Given the description of an element on the screen output the (x, y) to click on. 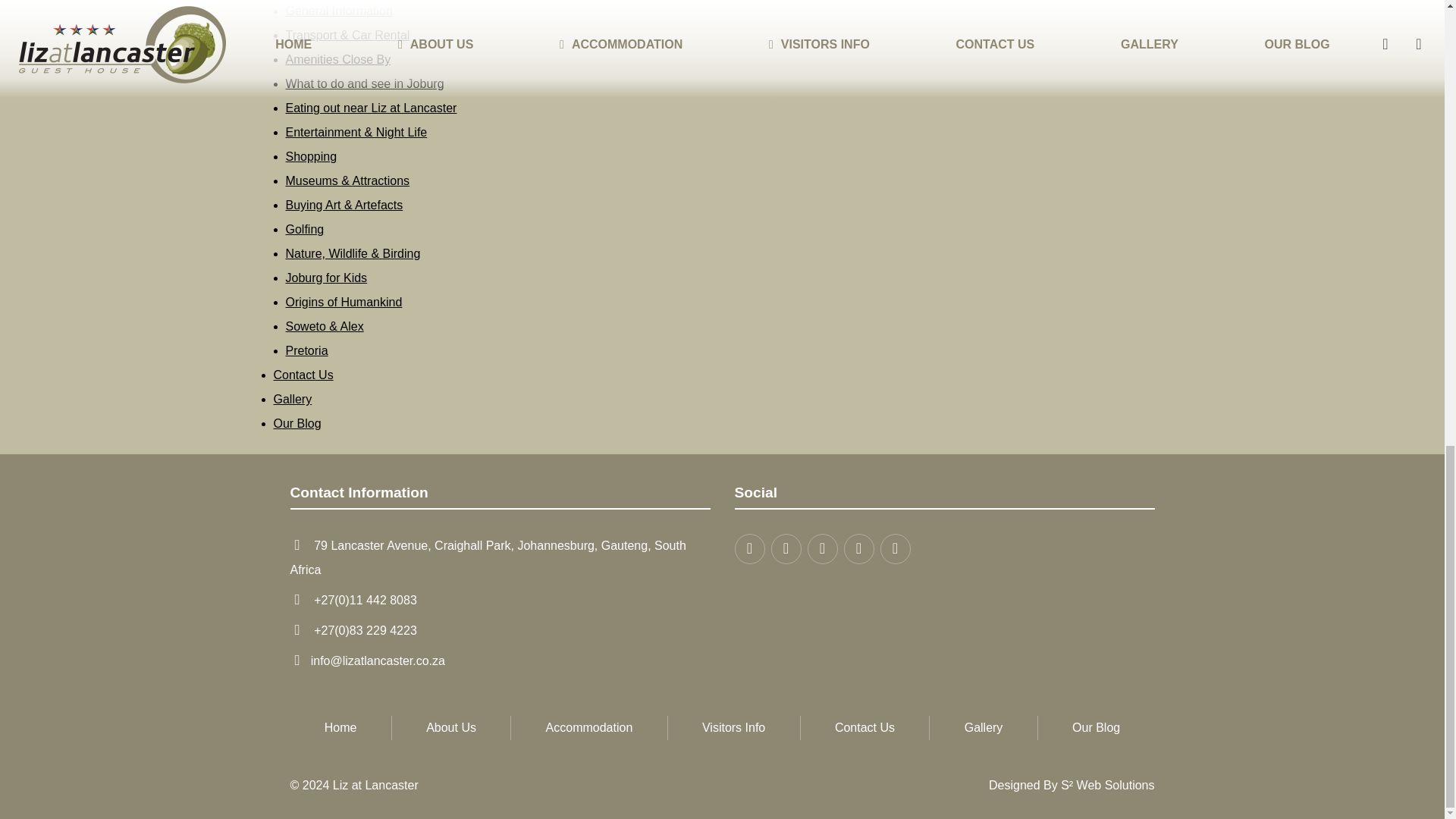
Liz at Lancaster on Google Hotels (894, 548)
Liz at Lancaster on LinkedIn (858, 548)
Like Liz at Lancaster on Facebook (785, 548)
Follow Liz at Lancaster on Instagram (821, 548)
